Given the description of an element on the screen output the (x, y) to click on. 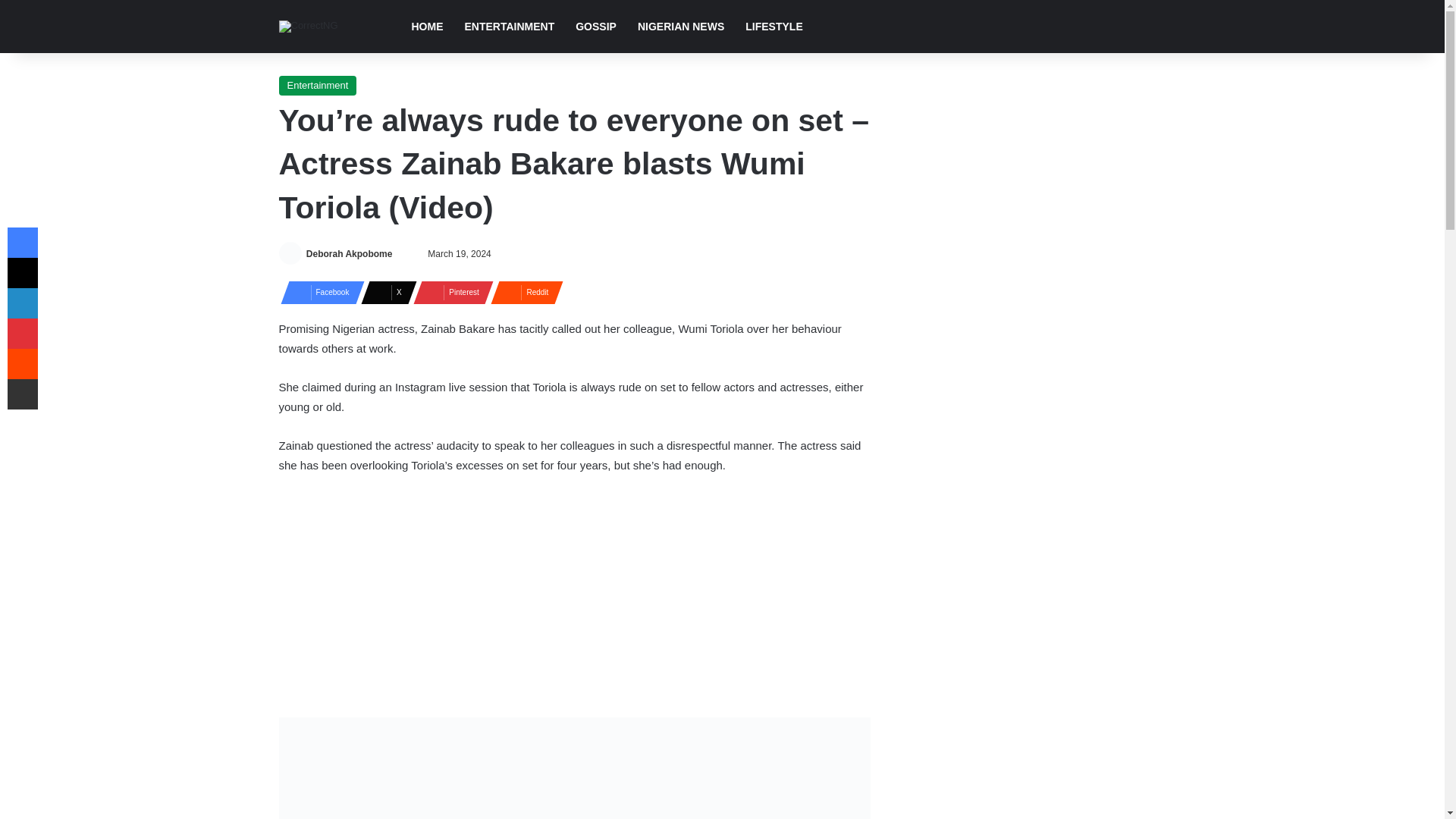
Facebook (318, 291)
Reddit (522, 291)
ENTERTAINMENT (508, 26)
X (384, 291)
Facebook (318, 291)
LIFESTYLE (773, 26)
Reddit (522, 291)
HOME (426, 26)
NIGERIAN NEWS (681, 26)
CorrectNG (308, 26)
Pinterest (448, 291)
Pinterest (448, 291)
X (384, 291)
Entertainment (317, 85)
GOSSIP (595, 26)
